Given the description of an element on the screen output the (x, y) to click on. 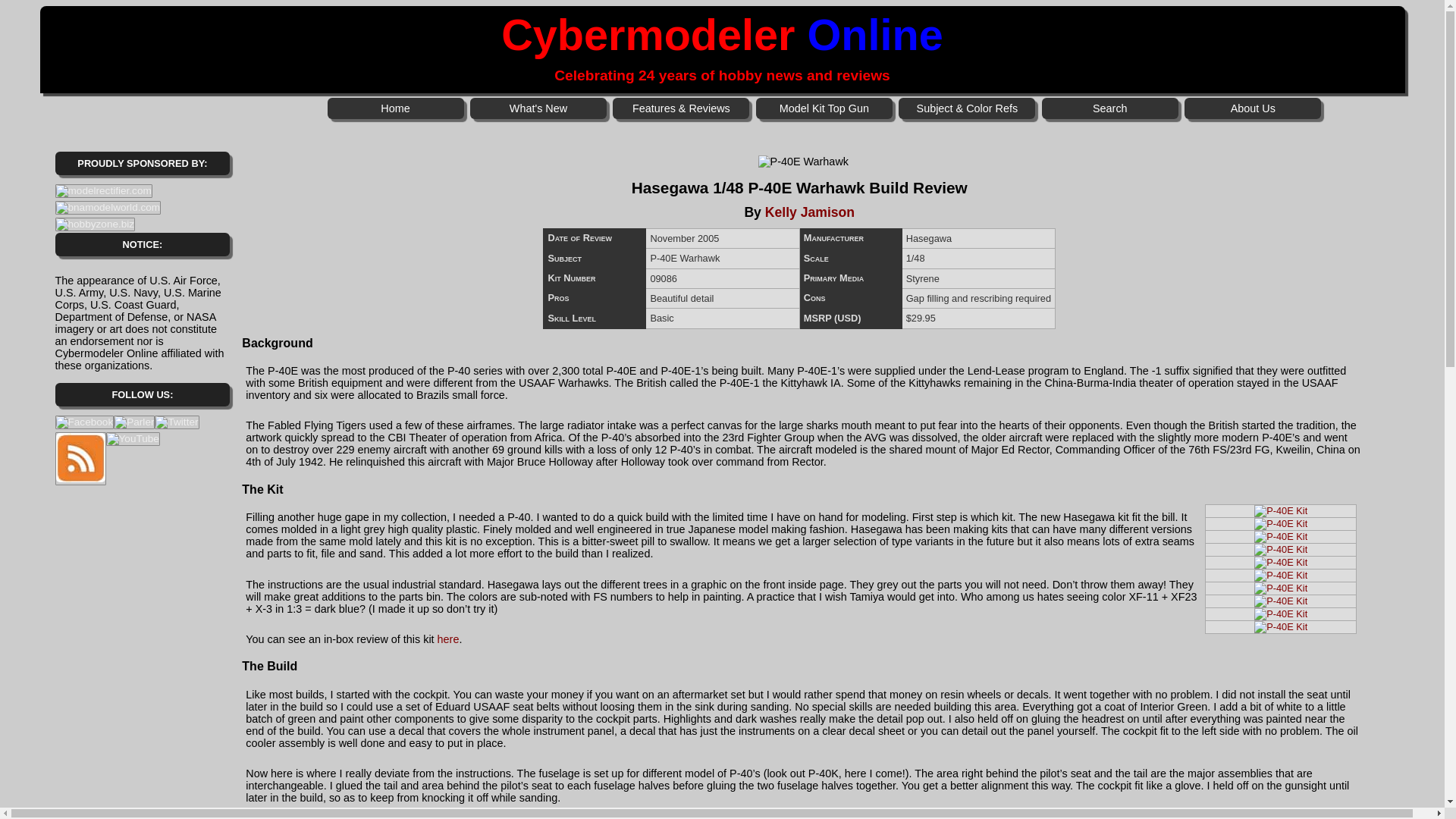
here (449, 639)
About Us (1252, 107)
Search (1109, 107)
What's New (538, 107)
Kelly Jamison (809, 212)
Model Kit Top Gun (823, 107)
Home (395, 107)
